Given the description of an element on the screen output the (x, y) to click on. 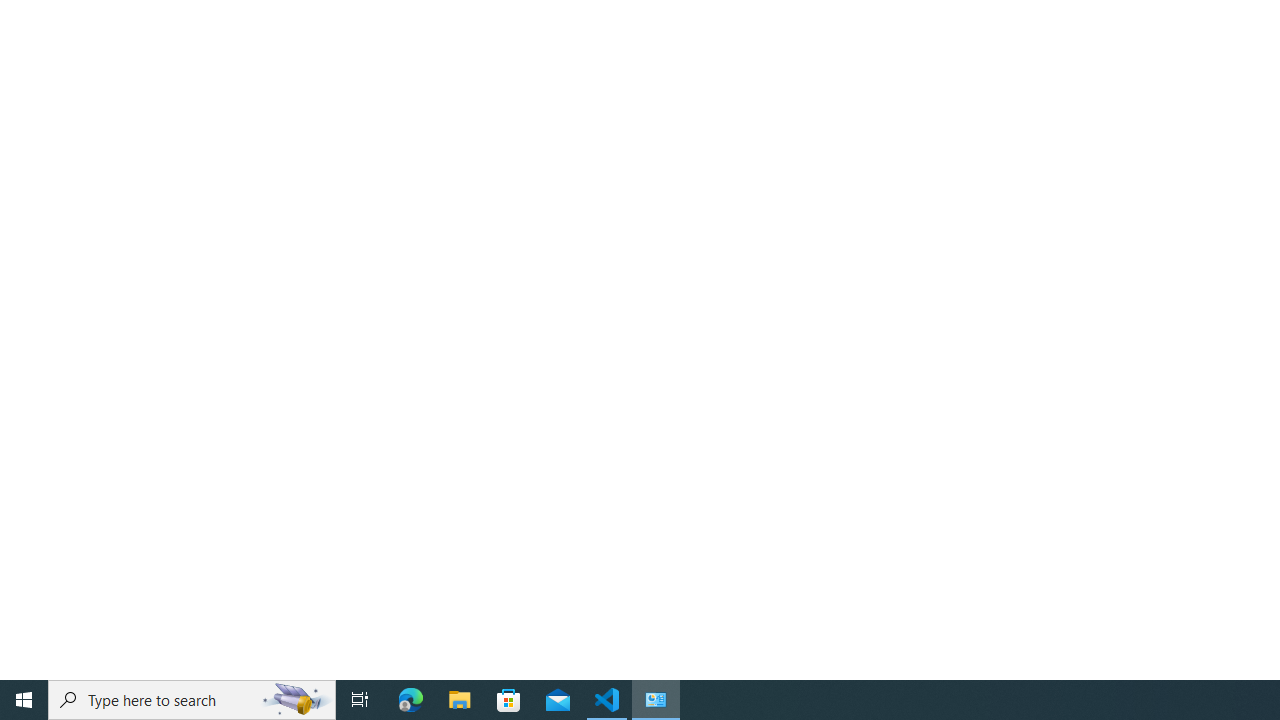
Microsoft Edge (411, 699)
Task View (359, 699)
Type here to search (191, 699)
Visual Studio Code - 1 running window (607, 699)
File Explorer (460, 699)
Search highlights icon opens search home window (295, 699)
Start (24, 699)
Microsoft Store (509, 699)
Control Panel - 1 running window (656, 699)
